Given the description of an element on the screen output the (x, y) to click on. 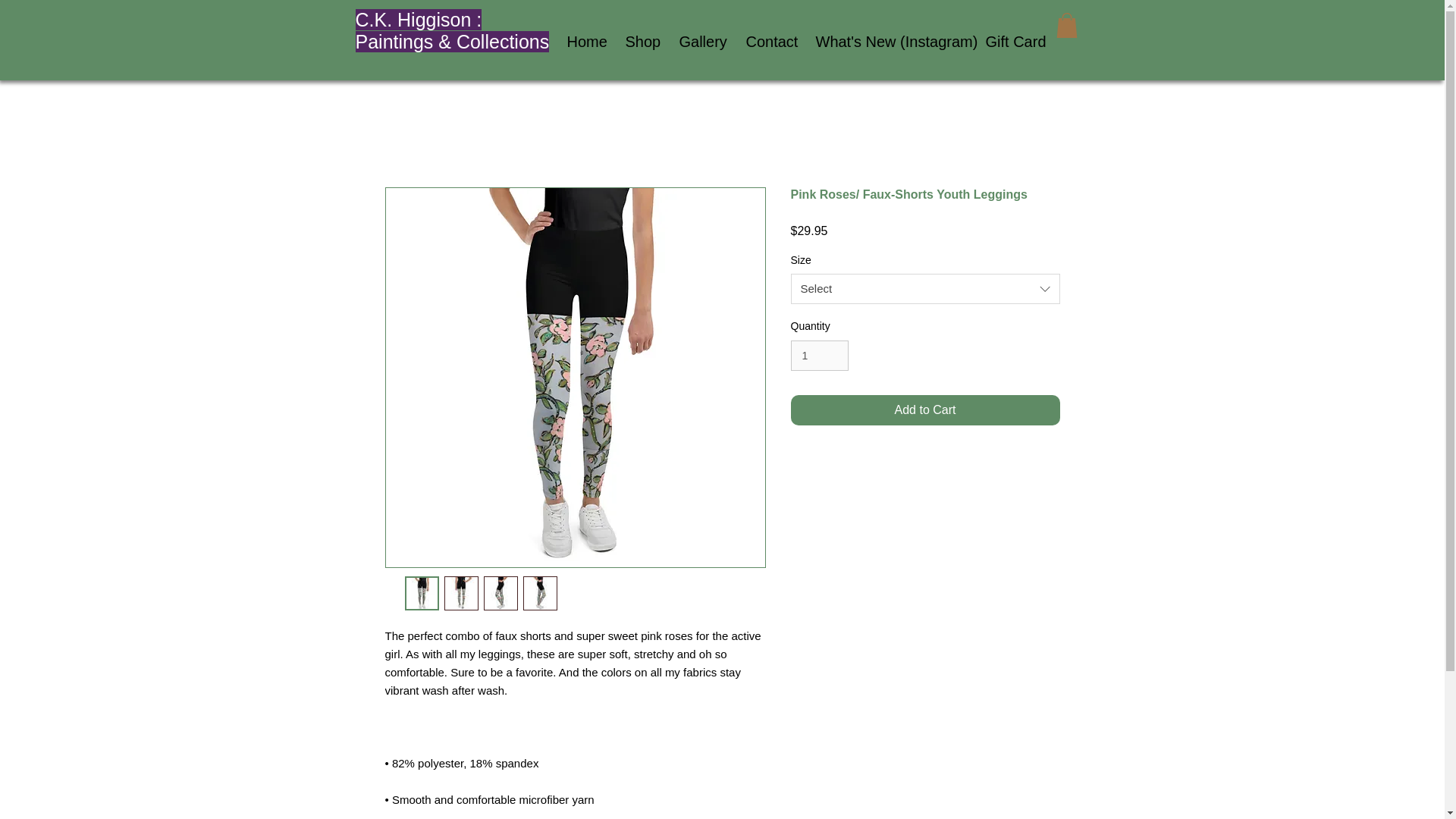
1 (818, 355)
Select (924, 288)
Gift Card (1011, 41)
Home (583, 41)
Gallery (699, 41)
Contact (768, 41)
Add to Cart (924, 409)
Shop (641, 41)
